Given the description of an element on the screen output the (x, y) to click on. 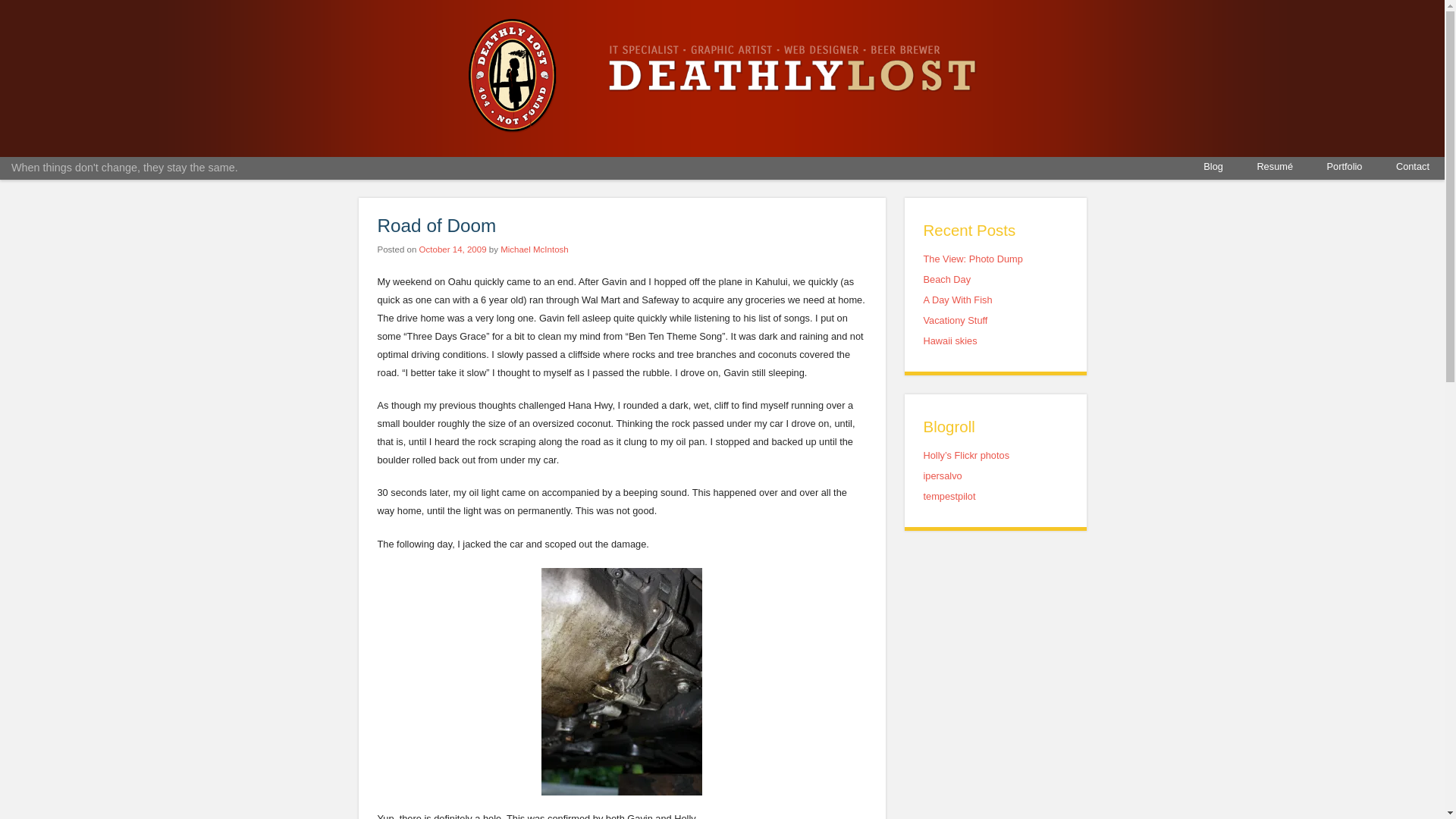
DEATHLYLOST (512, 128)
Skip to content (47, 166)
ipersalvo (942, 475)
Blog (1213, 166)
Skip to content (47, 166)
Beach Day (947, 279)
Hawaii skies (949, 340)
The View: Photo Dump (973, 258)
View all posts by Michael McIntosh (534, 248)
Vacationy Stuff (955, 319)
Michael McIntosh (534, 248)
Portfolio (1344, 166)
October 14, 2009 (452, 248)
A Day With Fish (957, 299)
2:06 pm (452, 248)
